Given the description of an element on the screen output the (x, y) to click on. 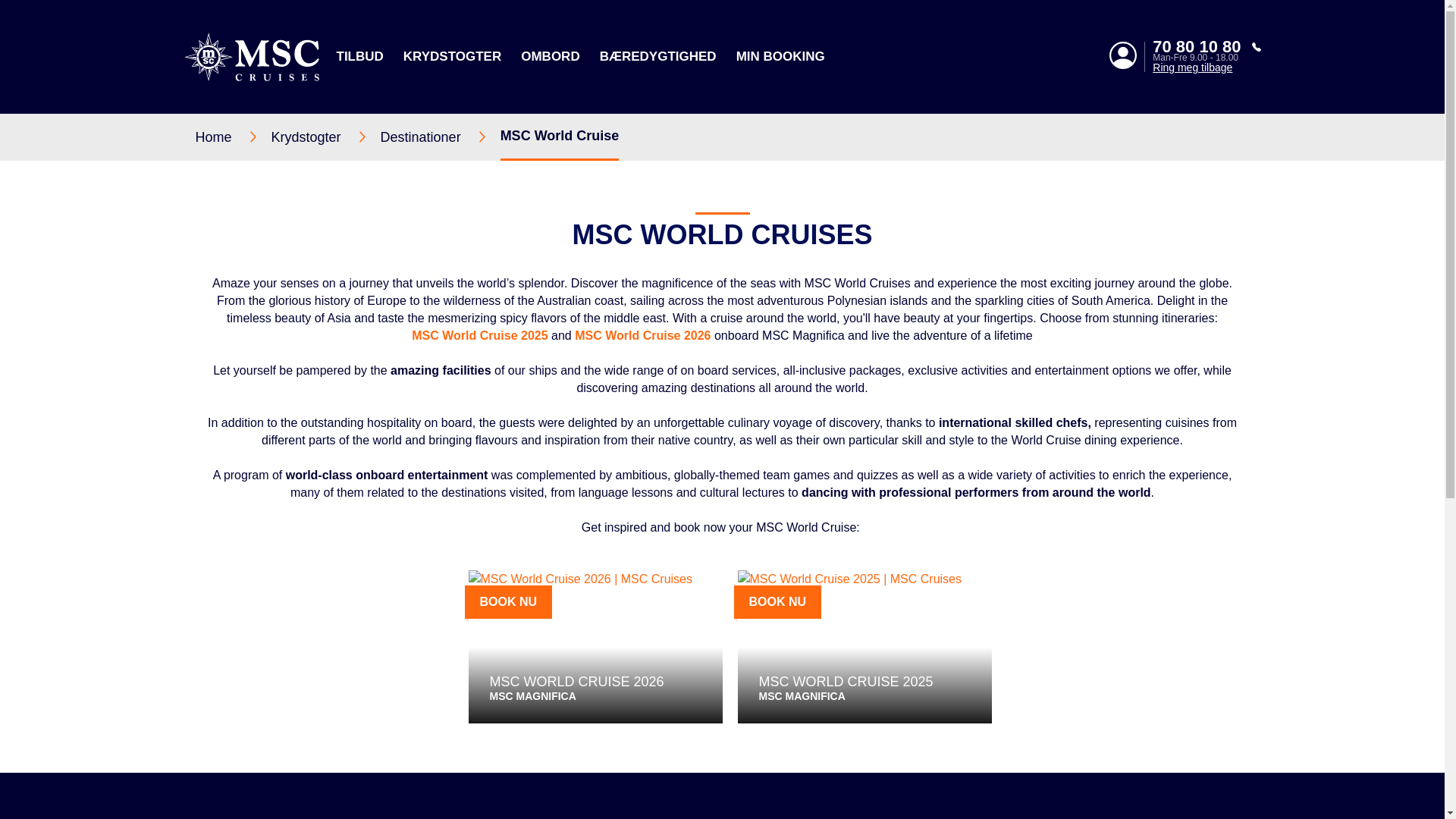
KRYDSTOGTER (451, 56)
OMBORD (550, 56)
msc cruises logo (250, 56)
70 80 10 80 (1206, 46)
Home (232, 136)
TILBUD (360, 56)
MIN BOOKING (780, 56)
Ring meg tilbage (1206, 67)
